Given the description of an element on the screen output the (x, y) to click on. 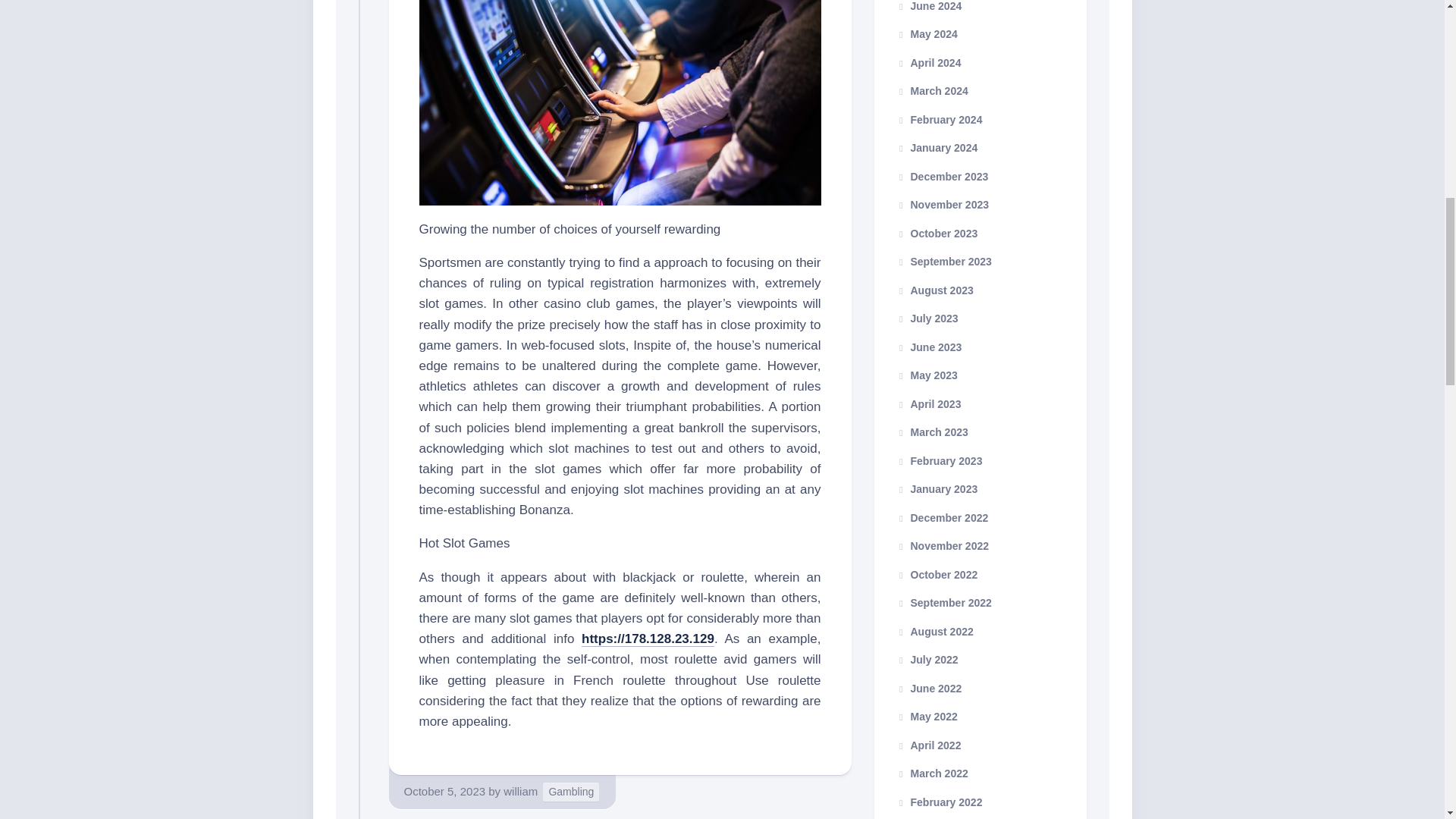
May 2024 (926, 33)
June 2023 (928, 346)
November 2023 (942, 204)
February 2024 (938, 119)
September 2023 (943, 261)
Gambling (570, 791)
October 2023 (936, 233)
August 2023 (934, 289)
July 2023 (927, 318)
March 2024 (932, 91)
